Given the description of an element on the screen output the (x, y) to click on. 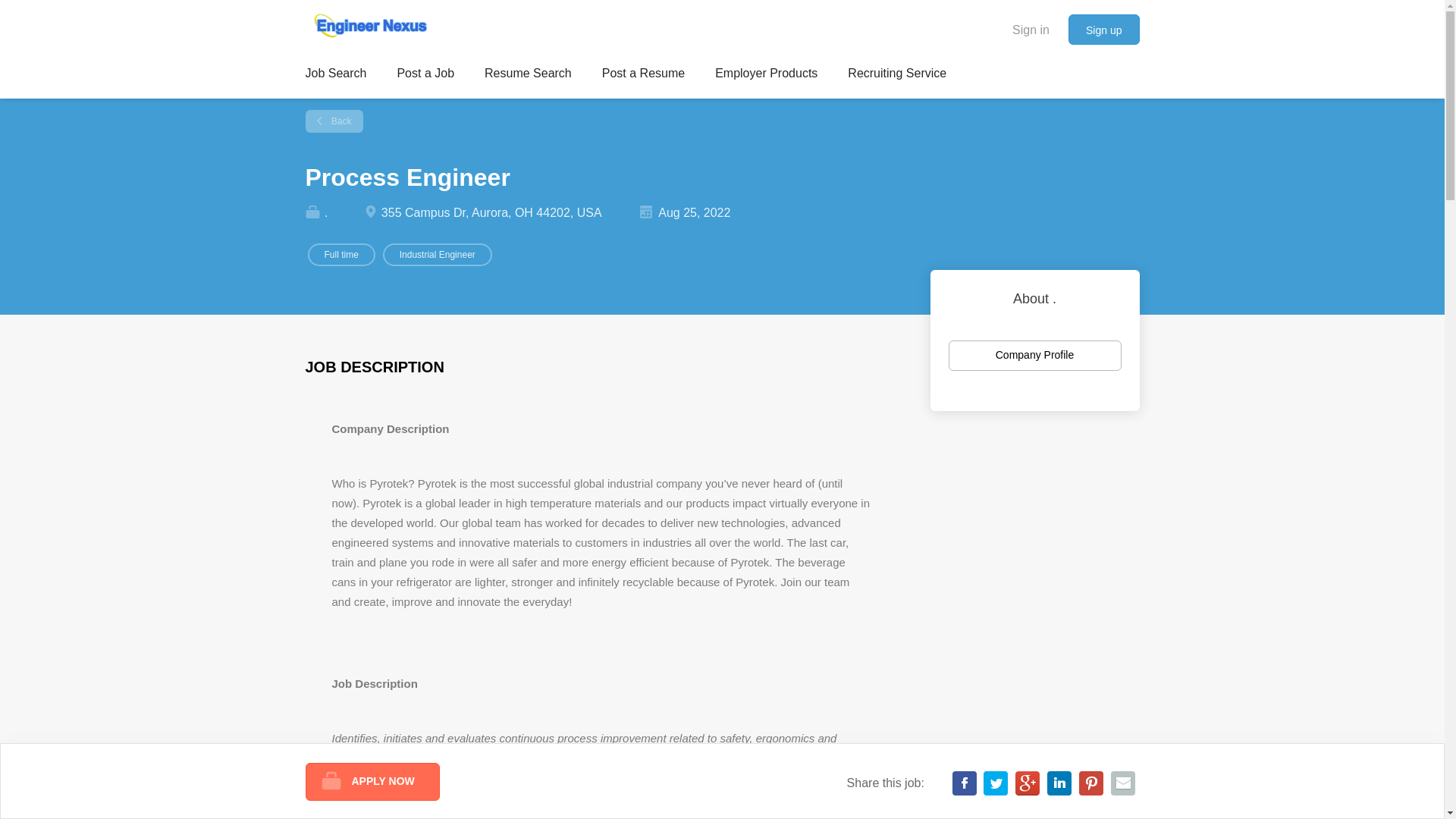
Back (333, 120)
Resume Search (528, 75)
Job Search (335, 75)
Recruiting Service (896, 75)
Employer Products (765, 75)
APPLY NOW (371, 781)
Sign in (1031, 28)
Sign up (1103, 29)
Post a Resume (643, 75)
Post a Job (425, 75)
Company Profile (1034, 355)
